Given the description of an element on the screen output the (x, y) to click on. 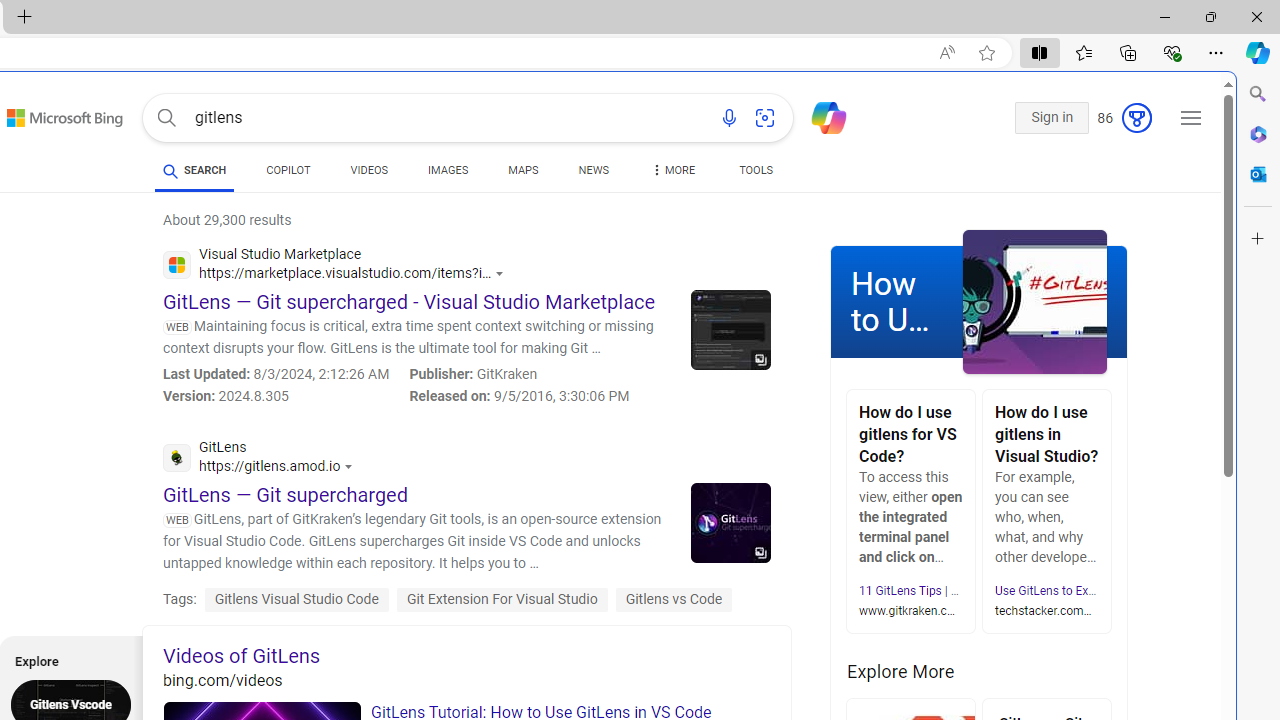
TOOLS (756, 173)
MAPS (523, 173)
Microsoft Rewards  (1124, 119)
How to Use GitLens (979, 301)
Released on: 9/5/2016, 3:30:06 PM (519, 396)
Dropdown Menu (672, 170)
MAPS (523, 170)
Search using an image (765, 117)
NEWS (592, 173)
